Given the description of an element on the screen output the (x, y) to click on. 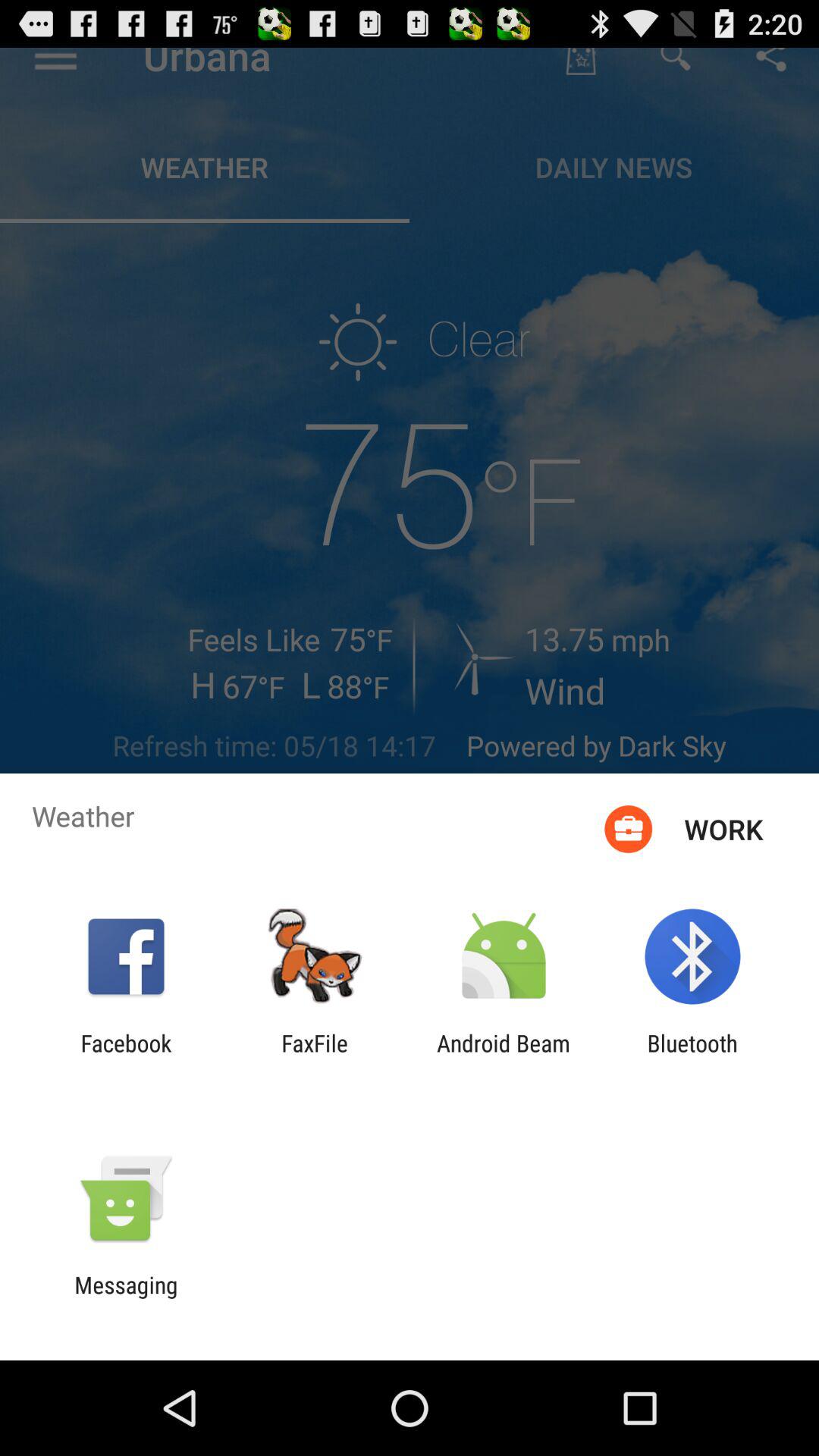
choose the app to the left of the faxfile icon (125, 1056)
